Given the description of an element on the screen output the (x, y) to click on. 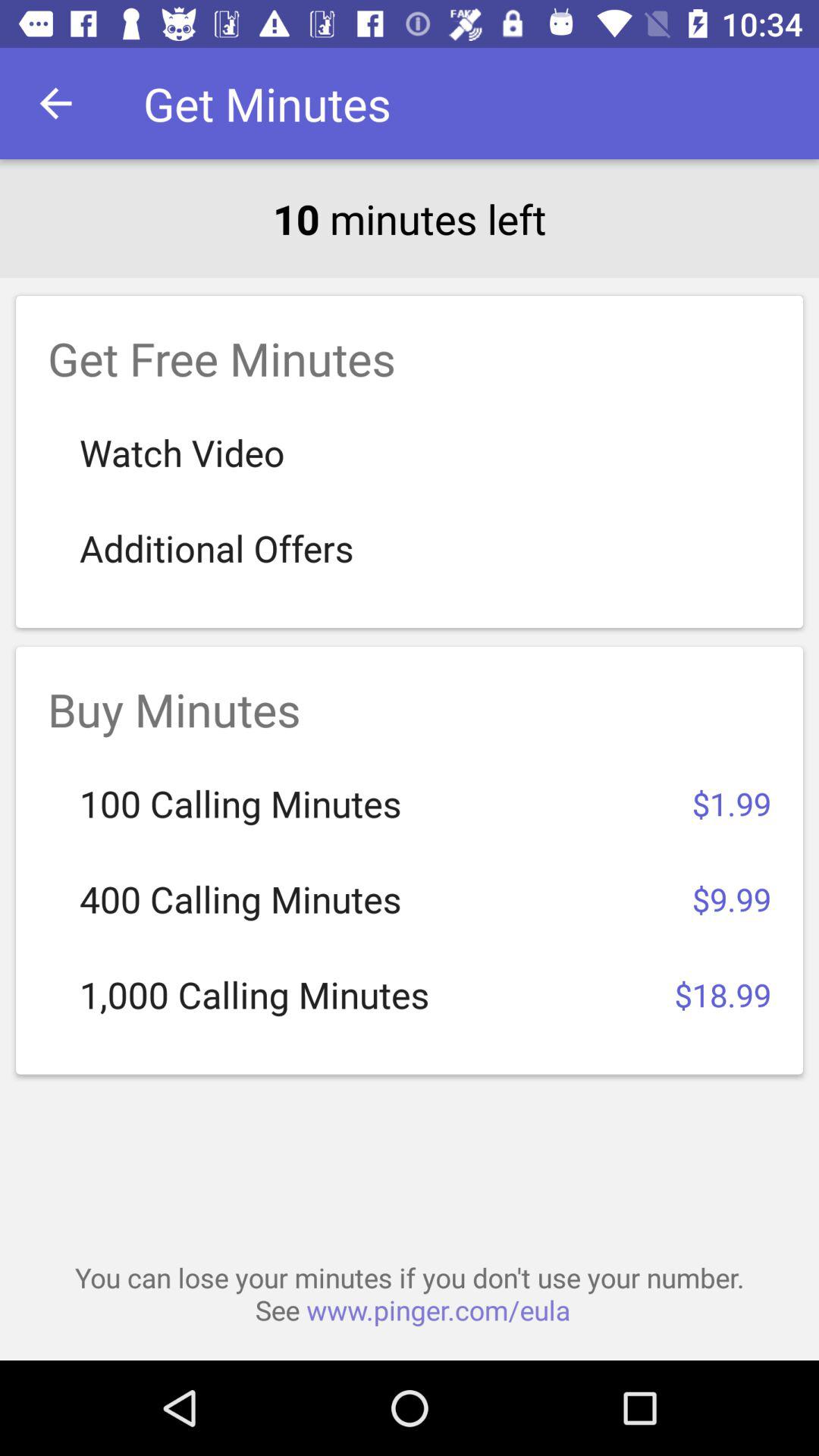
choose the icon to the left of get minutes (55, 103)
